Given the description of an element on the screen output the (x, y) to click on. 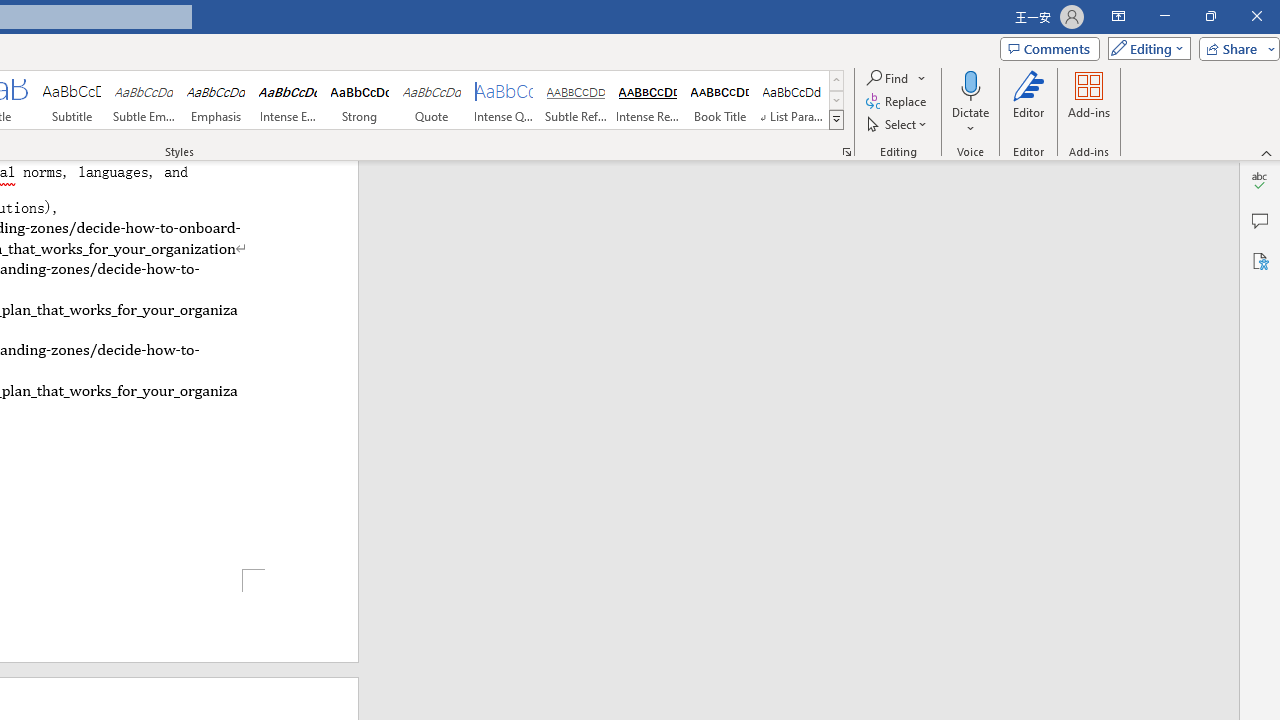
Subtle Reference (575, 100)
Subtitle (71, 100)
Accessibility (1260, 260)
